Given the description of an element on the screen output the (x, y) to click on. 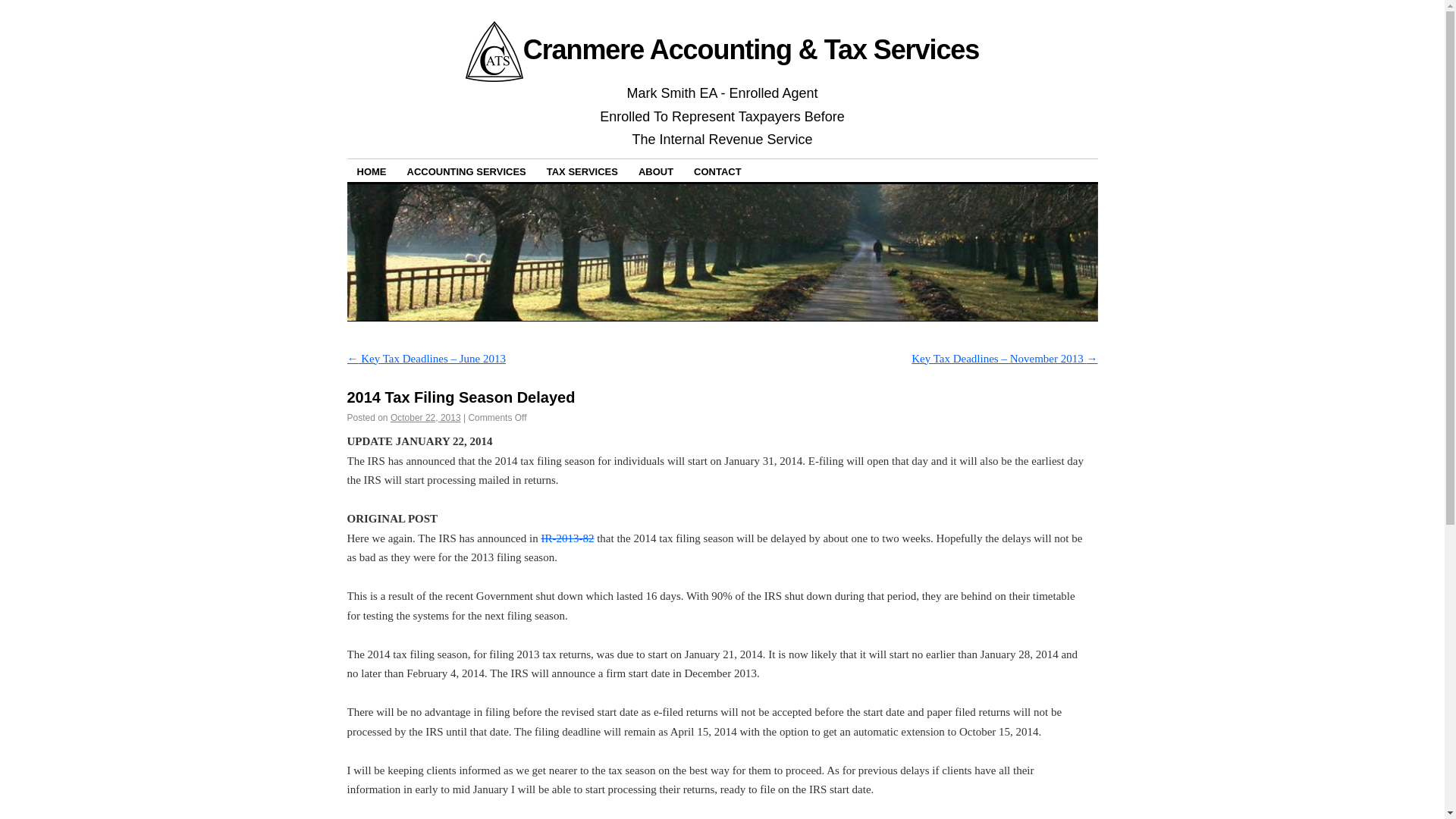
2:05 PM (425, 417)
TAX SERVICES (582, 170)
IR-2013-82 (567, 538)
HOME (371, 170)
October 22, 2013 (425, 417)
CONTACT (717, 170)
ABOUT (655, 170)
ACCOUNTING SERVICES (466, 170)
2014Tax Season to Start Later Following Government Closure (567, 538)
